Given the description of an element on the screen output the (x, y) to click on. 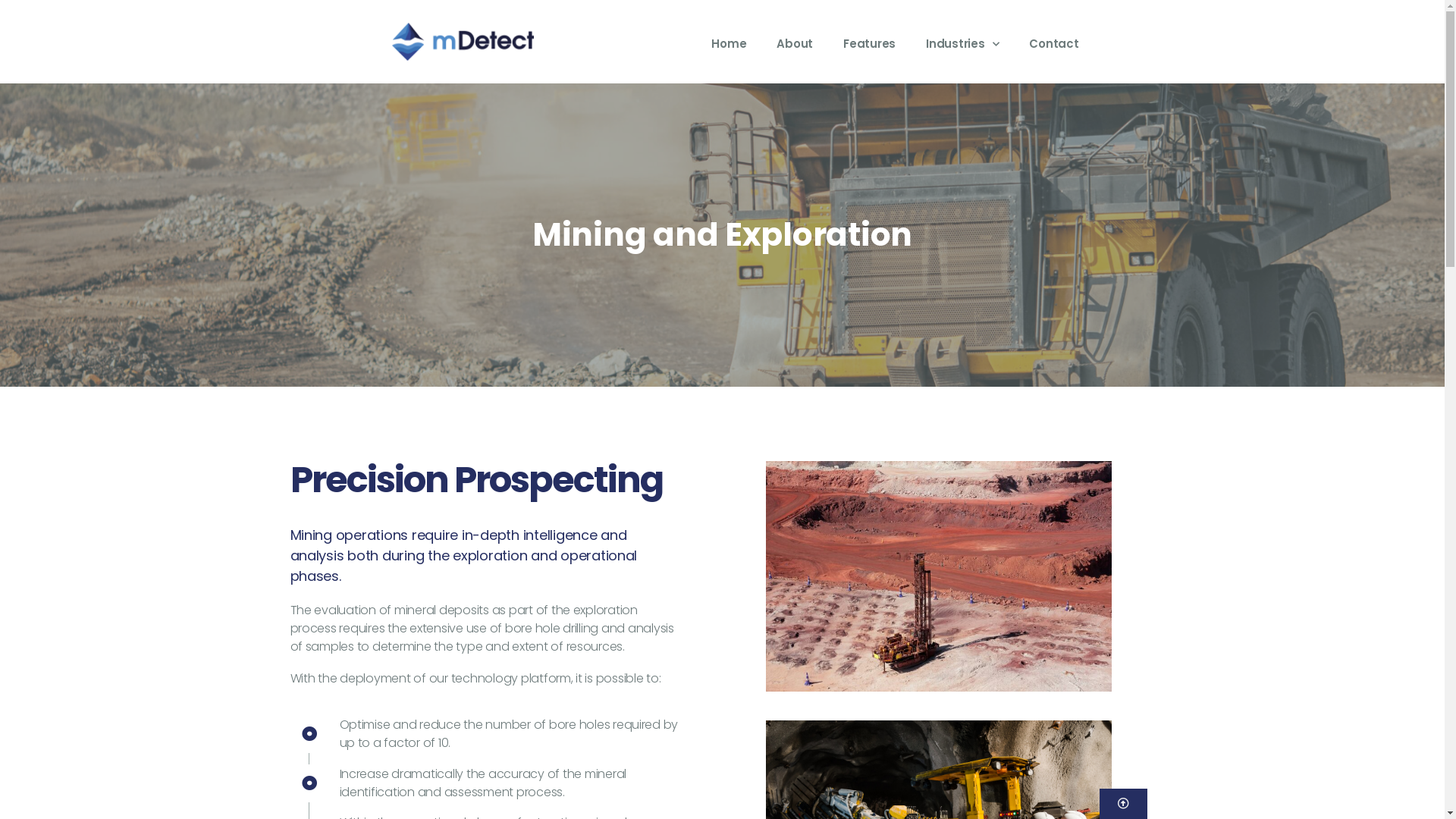
Industries Element type: text (961, 43)
About Element type: text (794, 43)
Contact Element type: text (1053, 43)
Features Element type: text (869, 43)
Home Element type: text (728, 43)
